Given the description of an element on the screen output the (x, y) to click on. 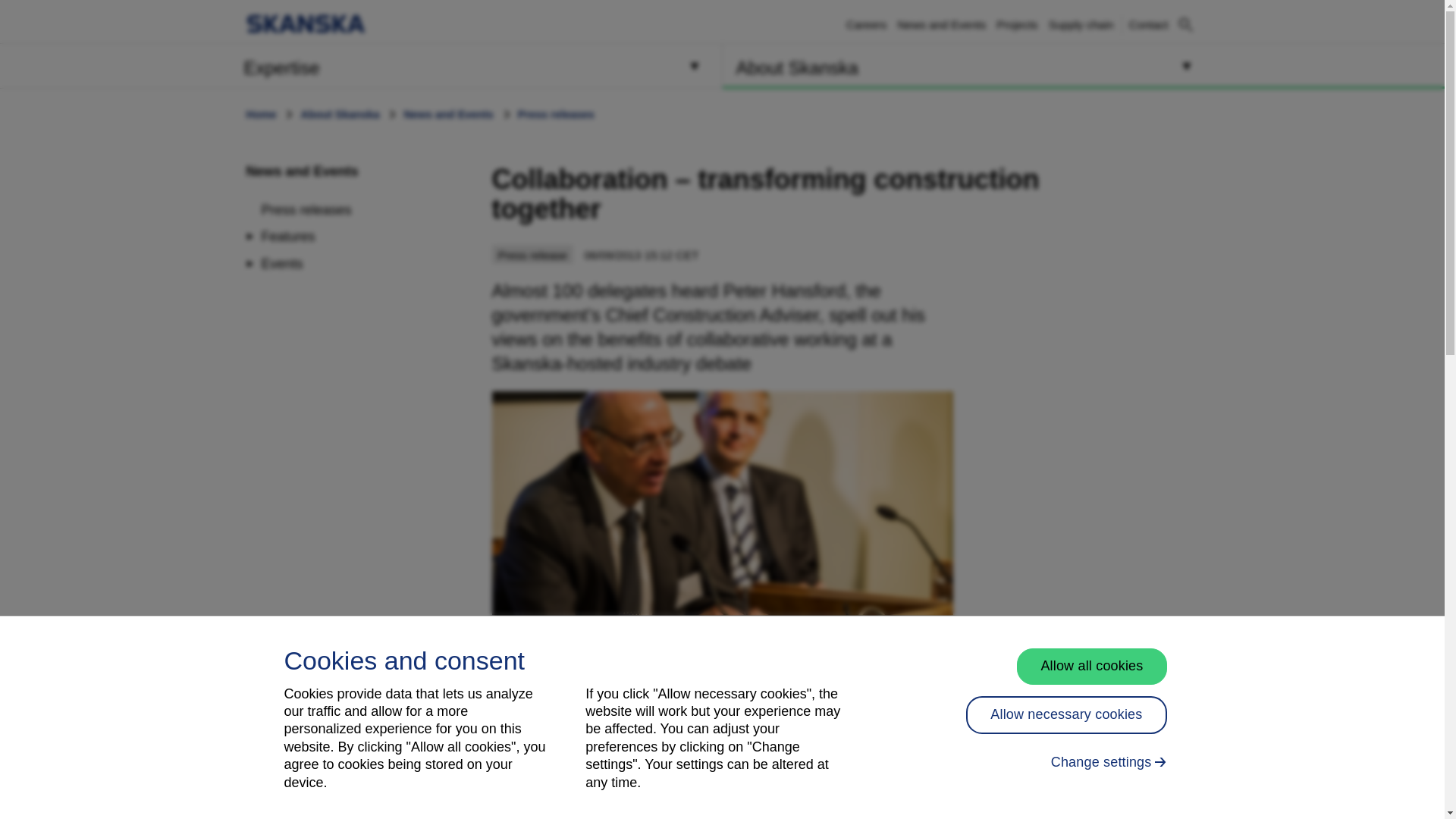
News and Events (302, 171)
Skanska (305, 24)
News and Events (940, 24)
Careers (865, 24)
Supply chain (361, 65)
Vision for 2025 (1149, 24)
Contact (1080, 24)
Projects (625, 732)
Skanska collaboration event (1149, 24)
